Given the description of an element on the screen output the (x, y) to click on. 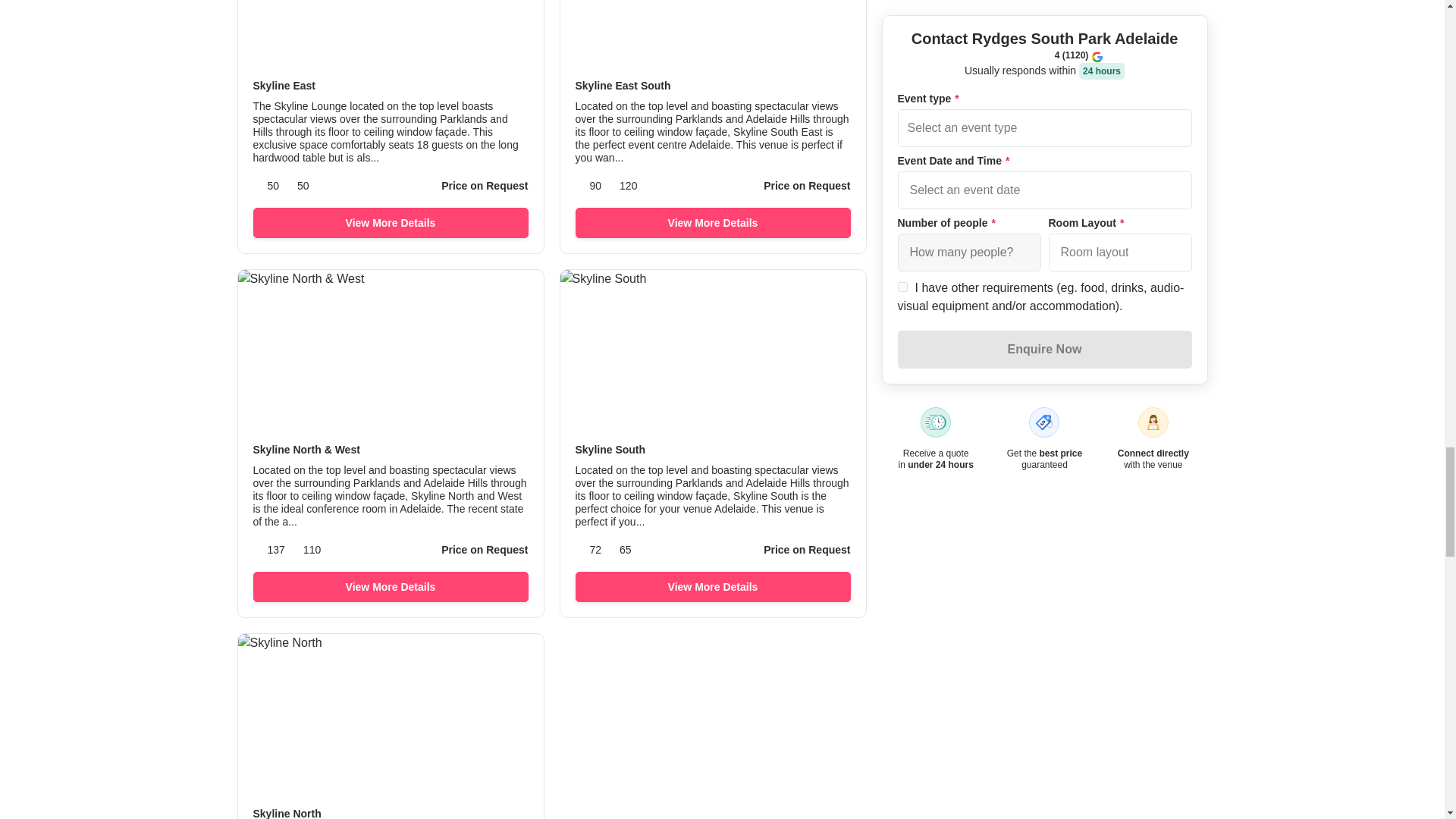
Skyline South (712, 449)
Skyline North (390, 813)
Skyline East (390, 85)
Skyline East South (712, 85)
